Given the description of an element on the screen output the (x, y) to click on. 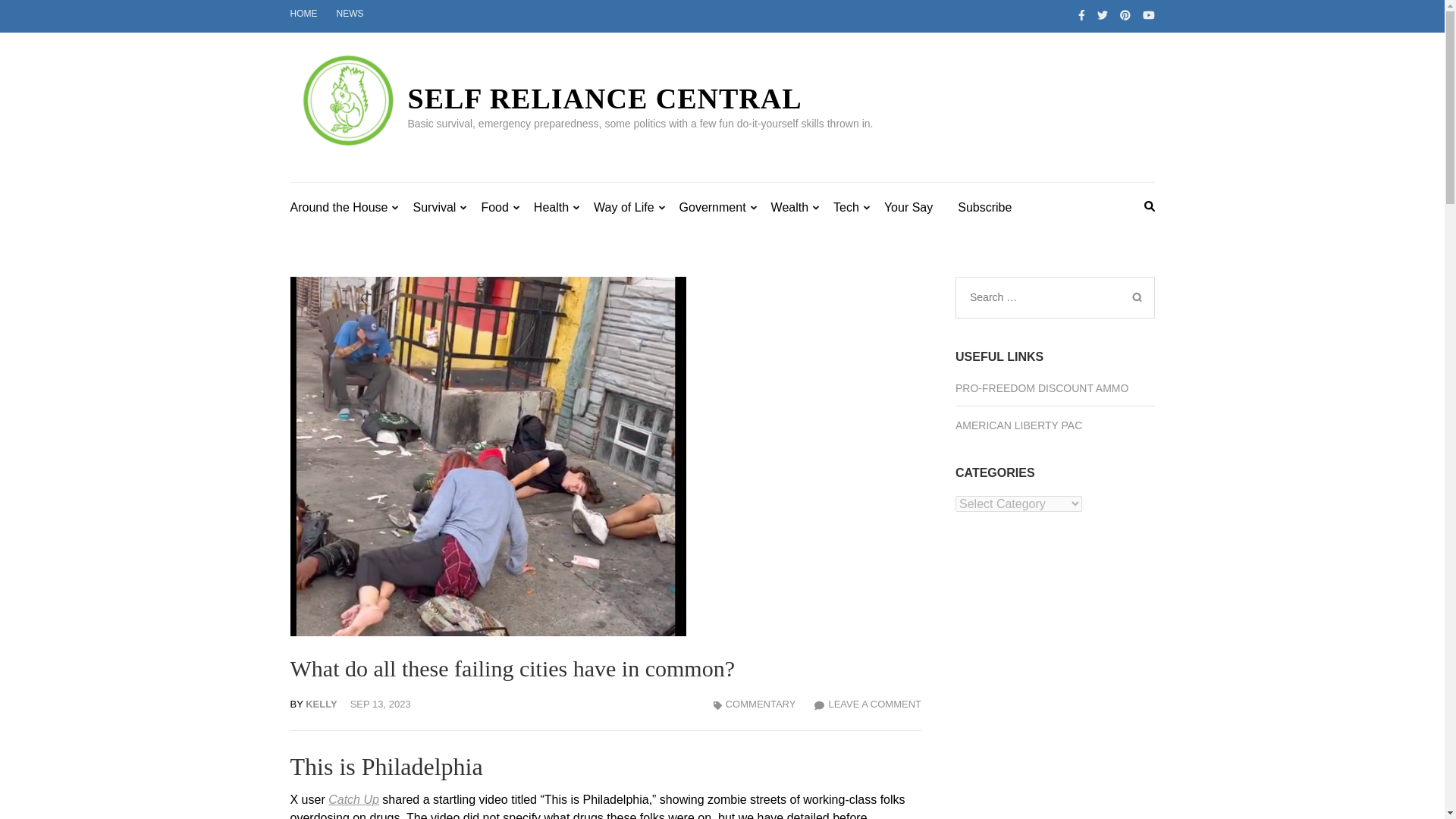
Search (1136, 297)
Search (1136, 297)
Youtube (1148, 15)
